Given the description of an element on the screen output the (x, y) to click on. 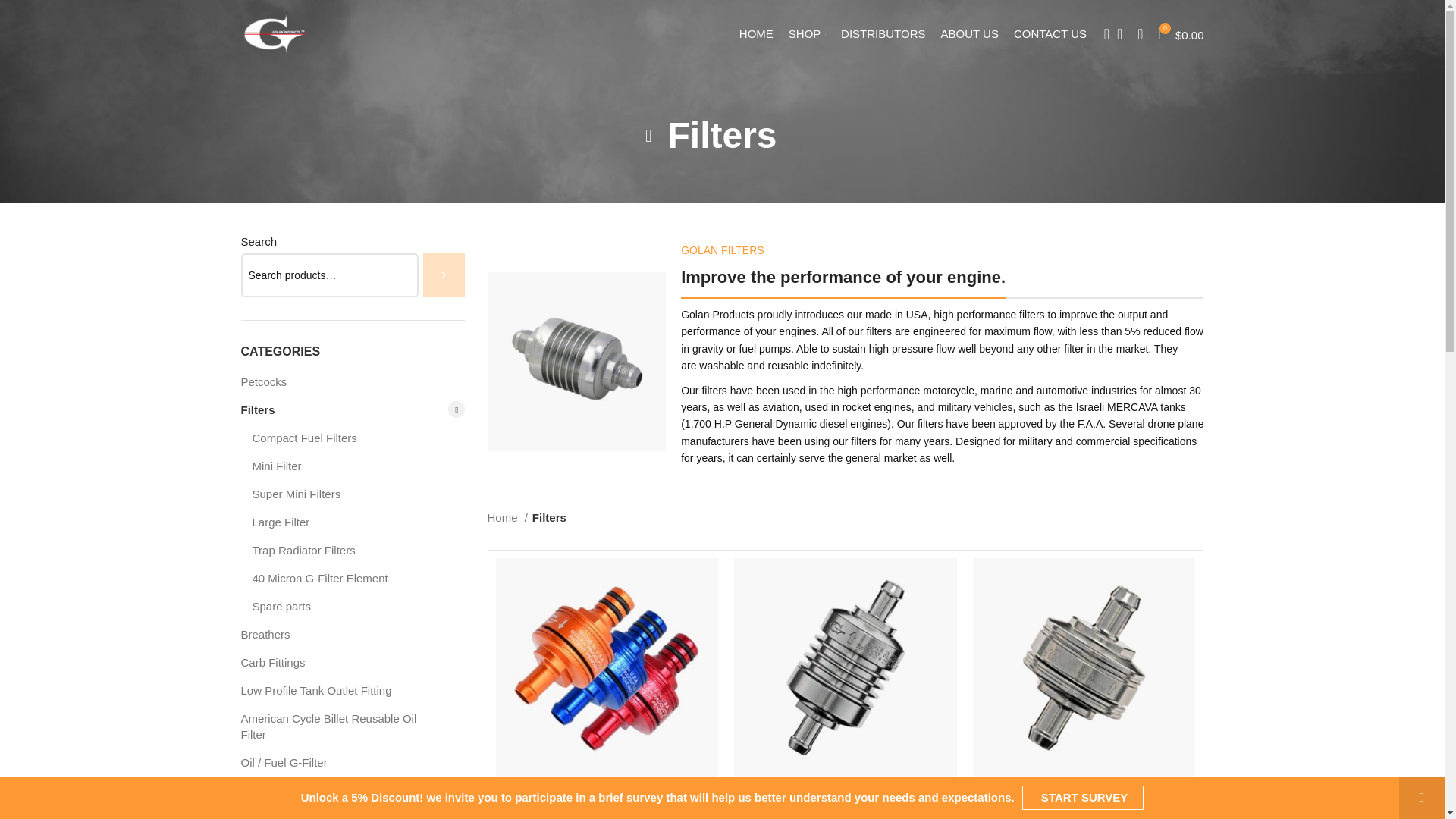
Petcocks (343, 381)
Carb Fittings (343, 662)
Large Filter (348, 521)
Mini Filter (348, 465)
Trap Radiator Filters (348, 550)
SHOP (807, 33)
HOME (756, 33)
Low Profile Tank Outlet Fitting (343, 690)
40 Micron G-Filter Element (348, 578)
Breathers (343, 633)
Shopping cart (1181, 33)
CONTACT US (1049, 33)
ABOUT US (968, 33)
Super Mini Filters (348, 493)
Compact Fuel Filters (348, 438)
